Given the description of an element on the screen output the (x, y) to click on. 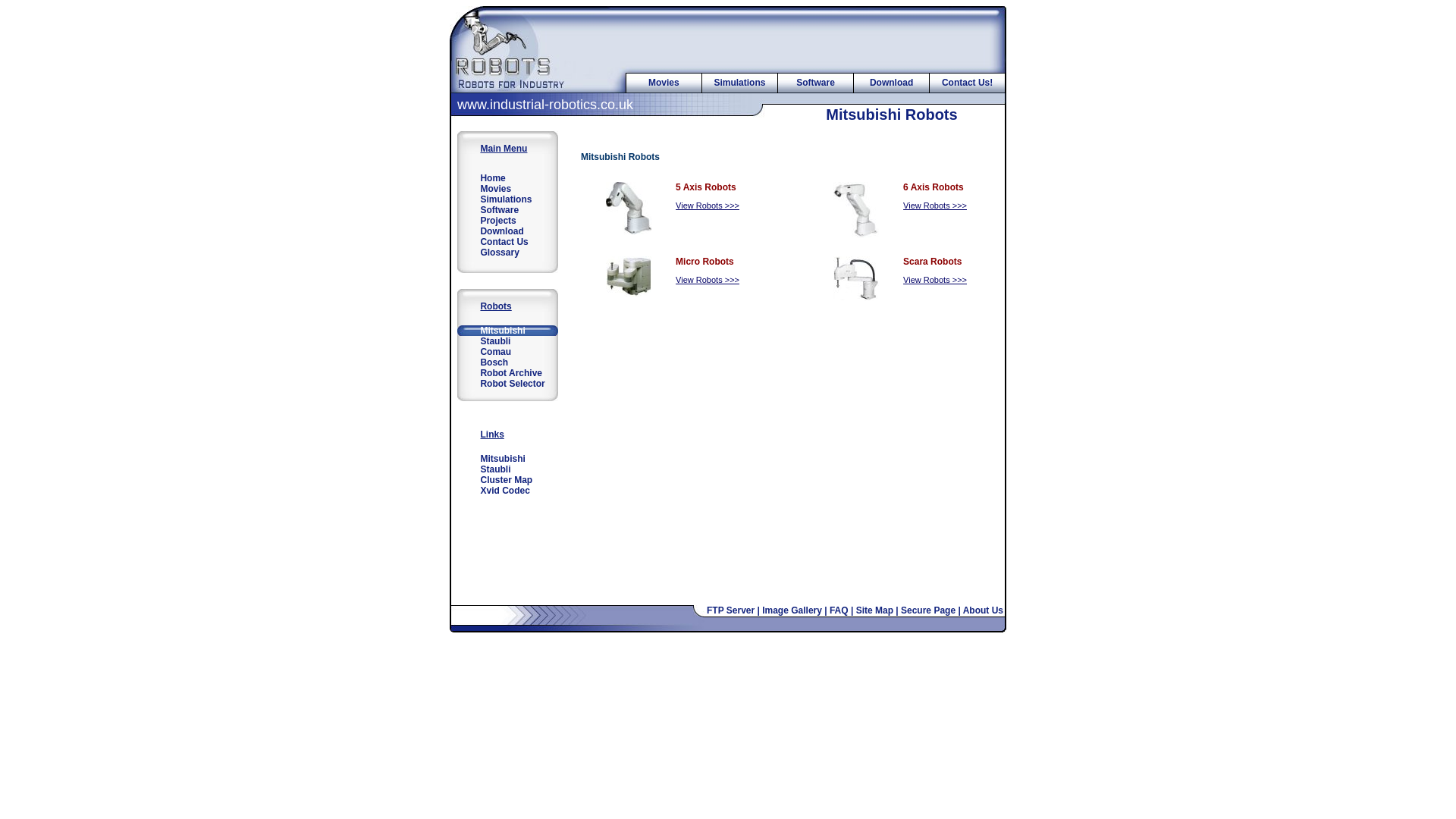
Contact Us (507, 241)
Download (890, 82)
Robot Archive (507, 372)
Simulations (739, 82)
Download (507, 231)
Movies (507, 188)
Simulations (507, 199)
Home (507, 177)
Software (815, 82)
Comau (507, 351)
